Given the description of an element on the screen output the (x, y) to click on. 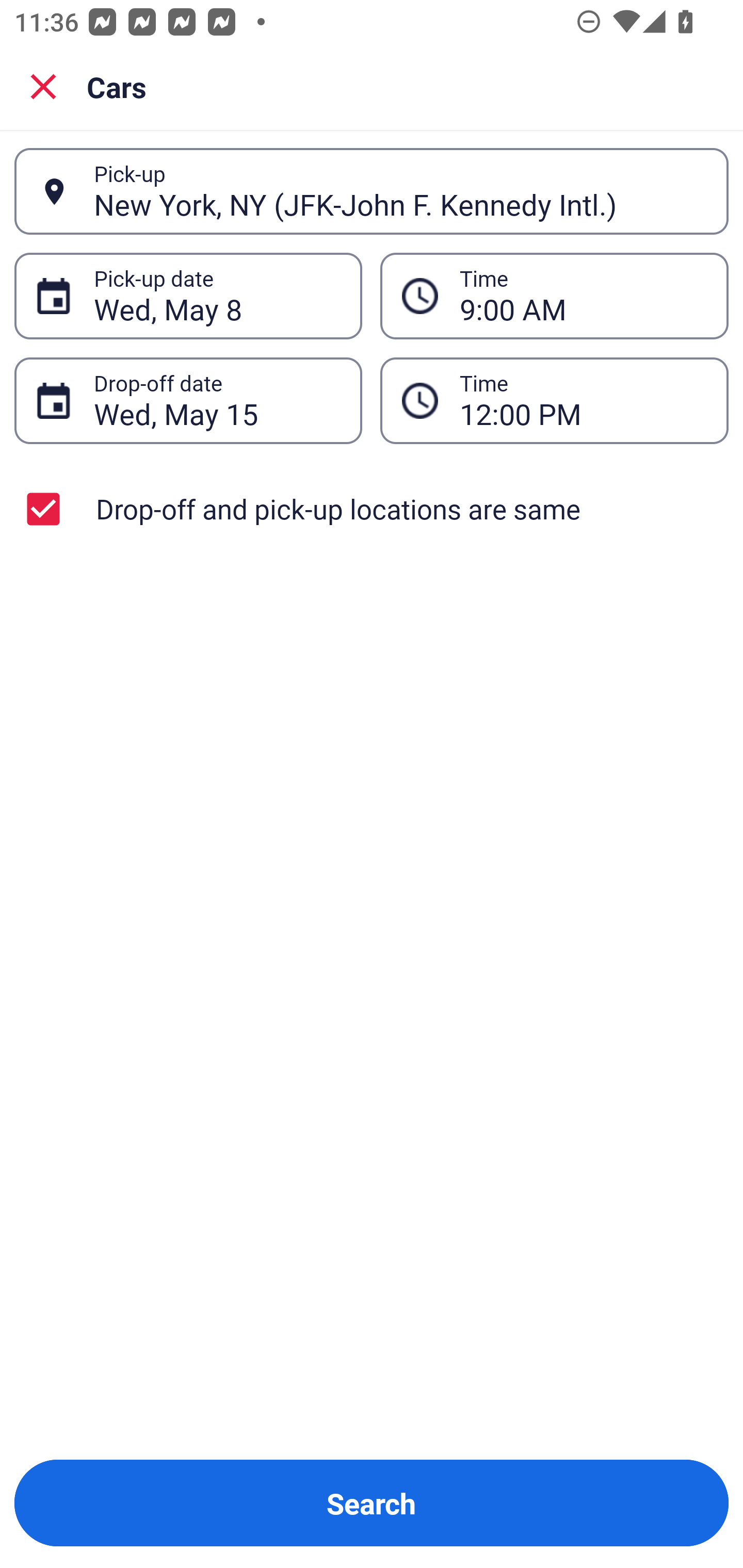
Close search screen (43, 86)
New York, NY (JFK-John F. Kennedy Intl.) Pick-up (371, 191)
New York, NY (JFK-John F. Kennedy Intl.) (399, 191)
Wed, May 8 Pick-up date (188, 295)
9:00 AM (554, 295)
Wed, May 8 (216, 296)
9:00 AM (582, 296)
Wed, May 15 Drop-off date (188, 400)
12:00 PM (554, 400)
Wed, May 15 (216, 400)
12:00 PM (582, 400)
Drop-off and pick-up locations are same (371, 508)
Search Button Search (371, 1502)
